Given the description of an element on the screen output the (x, y) to click on. 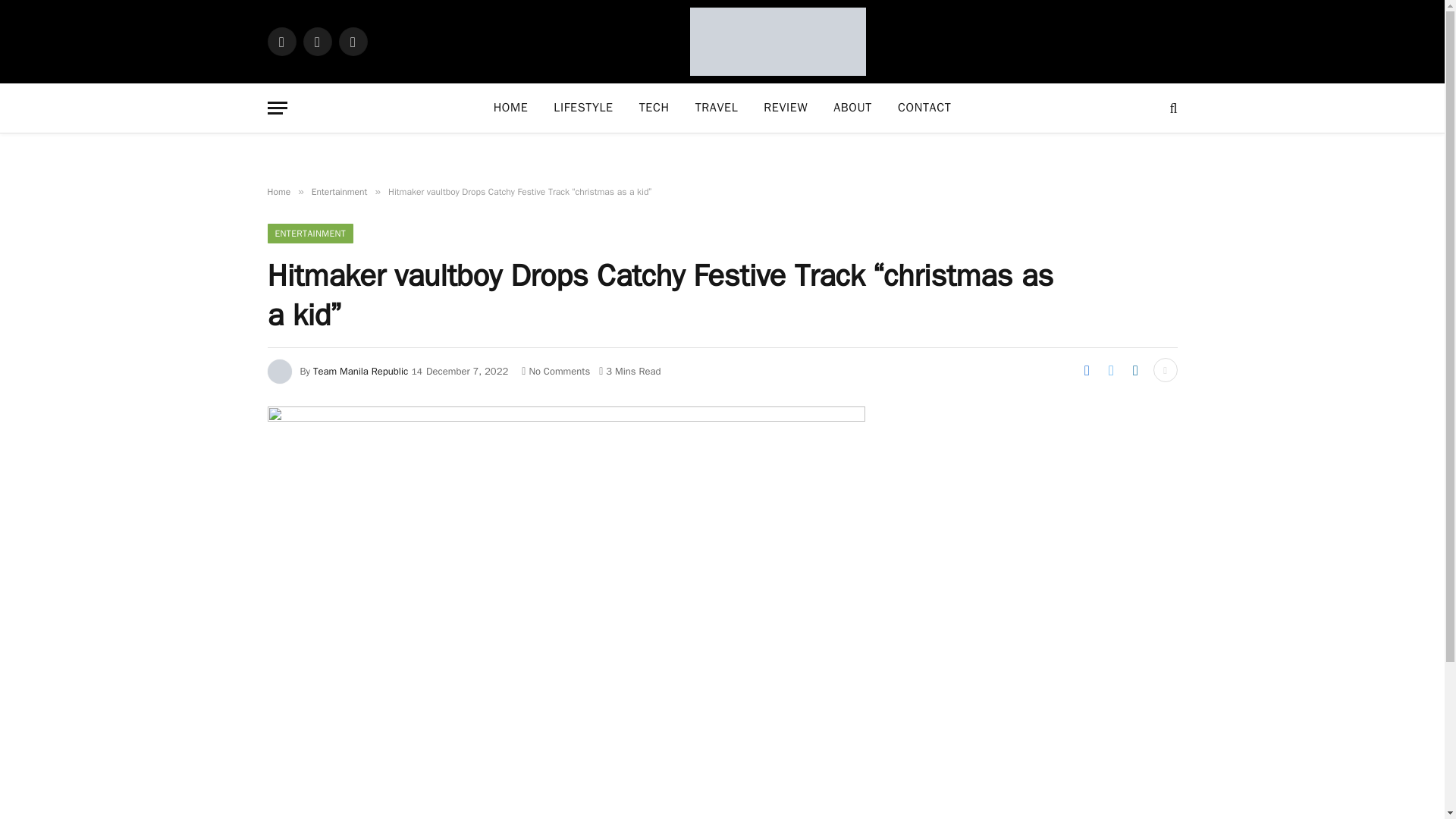
LIFESTYLE (583, 107)
Share on Facebook (1086, 369)
Team Manila Republic (360, 370)
CONTACT (924, 107)
Home (277, 191)
HOME (510, 107)
TRAVEL (716, 107)
Instagram (351, 41)
Share on LinkedIn (1135, 369)
Posts by Team Manila Republic (360, 370)
Facebook (280, 41)
ABOUT (853, 107)
No Comments (555, 370)
Manila Republic (777, 41)
REVIEW (786, 107)
